Given the description of an element on the screen output the (x, y) to click on. 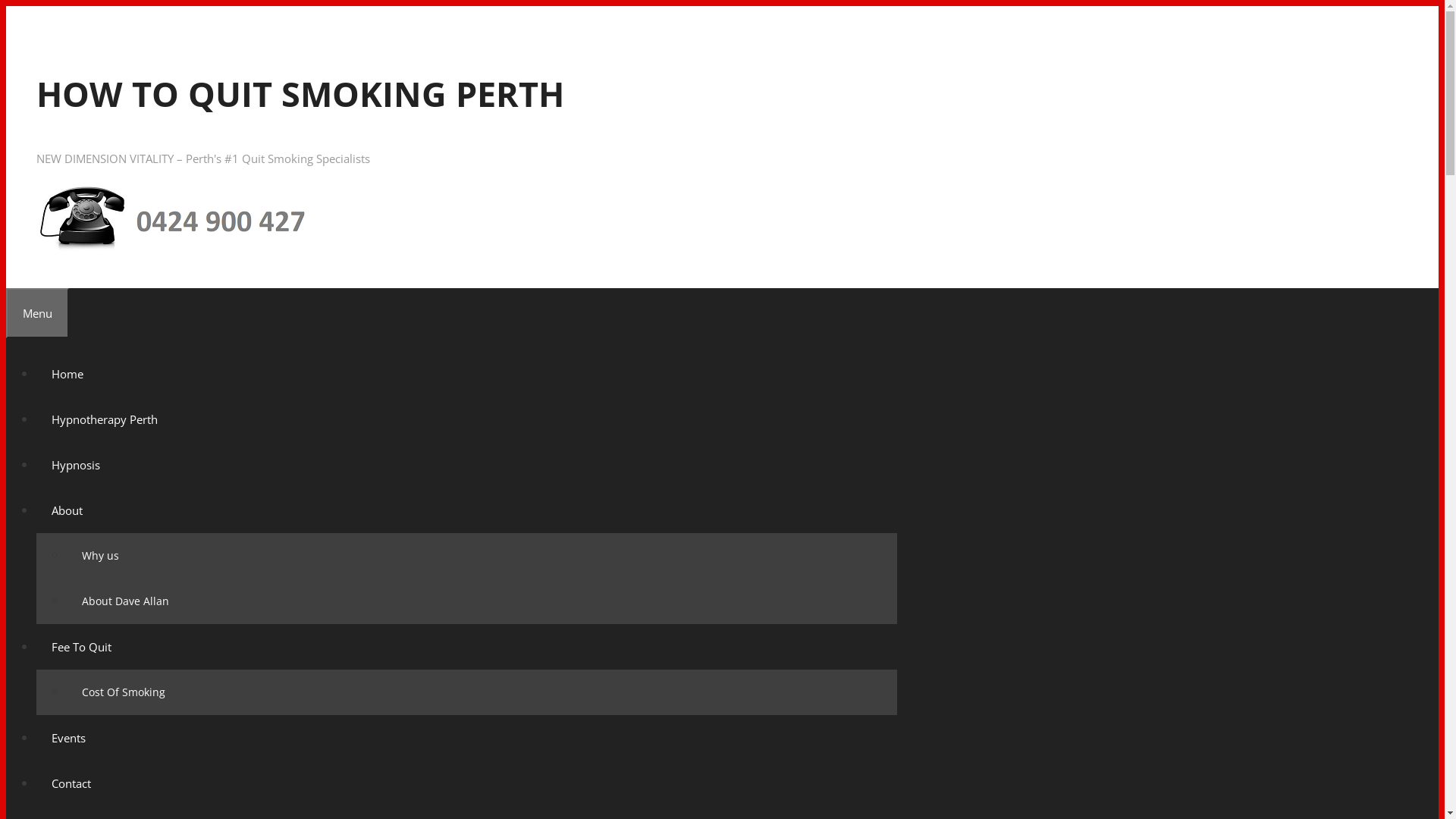
Why us Element type: text (100, 555)
Hypnotherapy Perth Element type: text (104, 418)
HOW TO QUIT SMOKING PERTH Element type: text (300, 93)
Events Element type: text (68, 737)
Fee To Quit Element type: text (81, 646)
Home Element type: text (67, 373)
Hypnosis Element type: text (75, 464)
About Dave Allan Element type: text (125, 600)
HOW TO QUIT SMOKING PERTH Element type: hover (178, 215)
About Element type: text (66, 509)
HOW TO QUIT SMOKING PERTH Element type: hover (178, 248)
Cost Of Smoking Element type: text (123, 691)
Contact Element type: text (71, 782)
Menu Element type: text (37, 313)
